Given the description of an element on the screen output the (x, y) to click on. 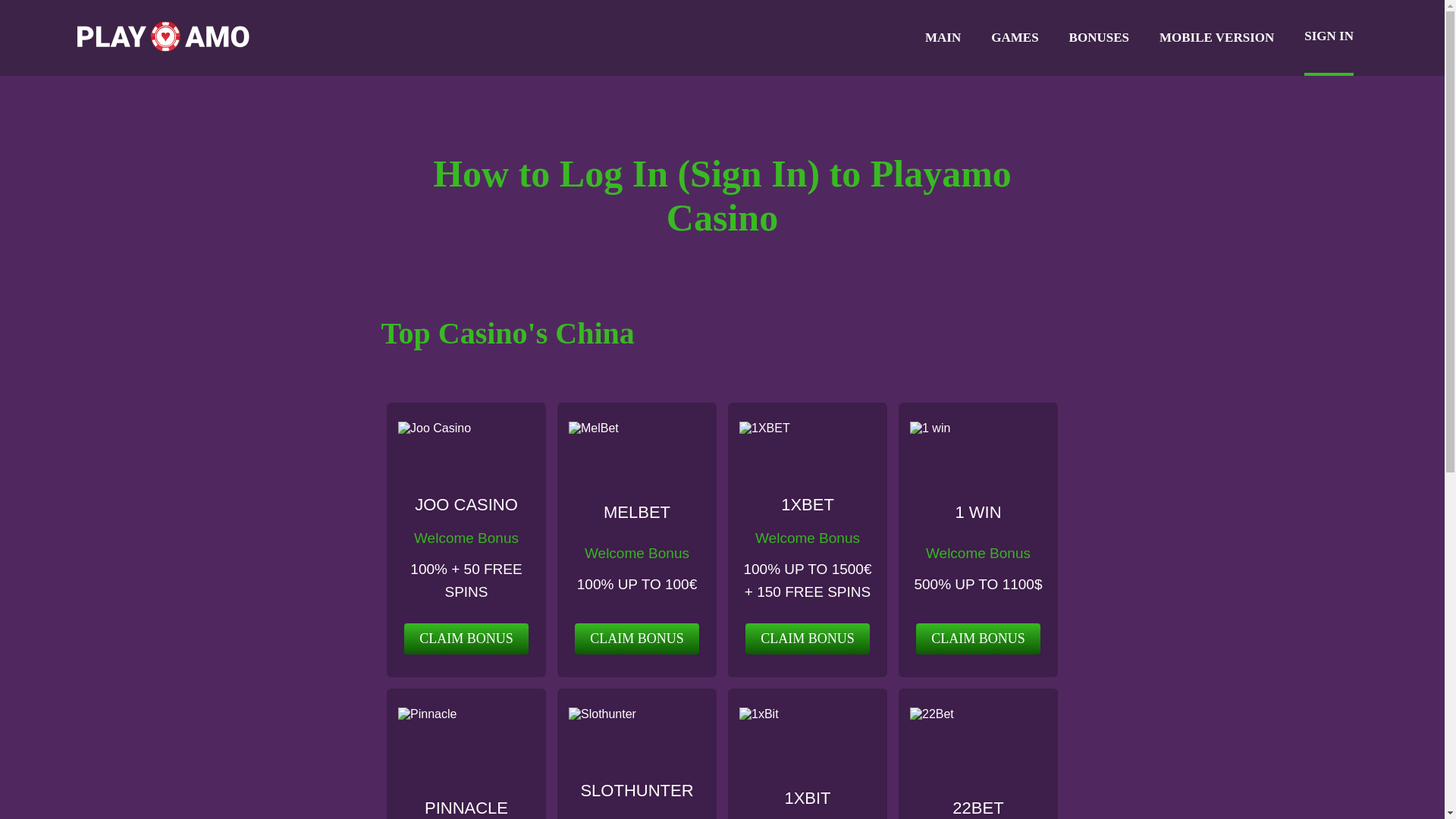
MOBILE VERSION (1216, 38)
CLAIM BONUS (636, 638)
SIGN IN (1329, 38)
GAMES (1014, 38)
CLAIM BONUS (466, 638)
BONUSES (1098, 38)
CLAIM BONUS (978, 638)
MAIN (942, 38)
CLAIM BONUS (807, 638)
